Given the description of an element on the screen output the (x, y) to click on. 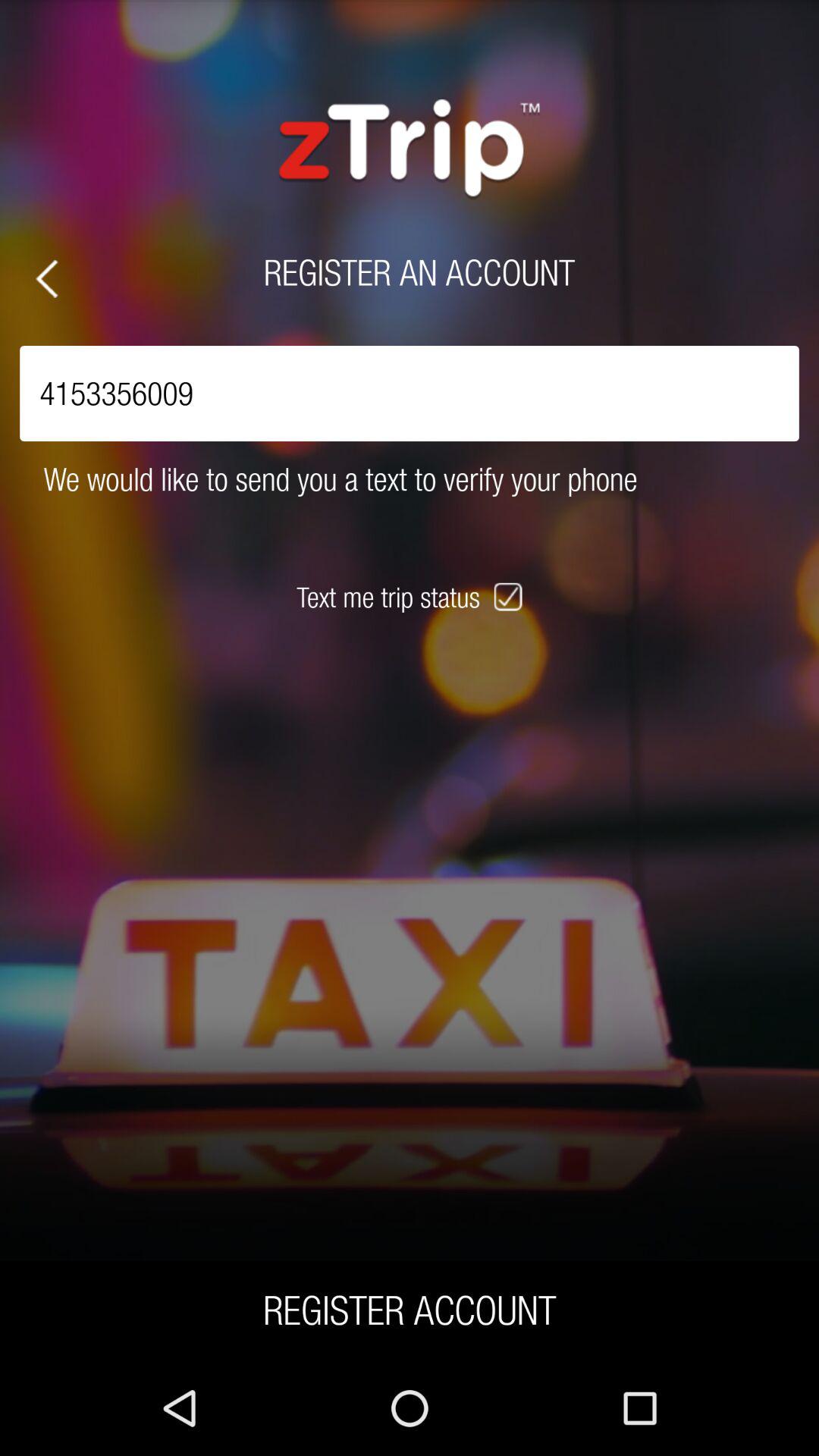
turn on the icon to the right of the text me trip item (510, 597)
